Given the description of an element on the screen output the (x, y) to click on. 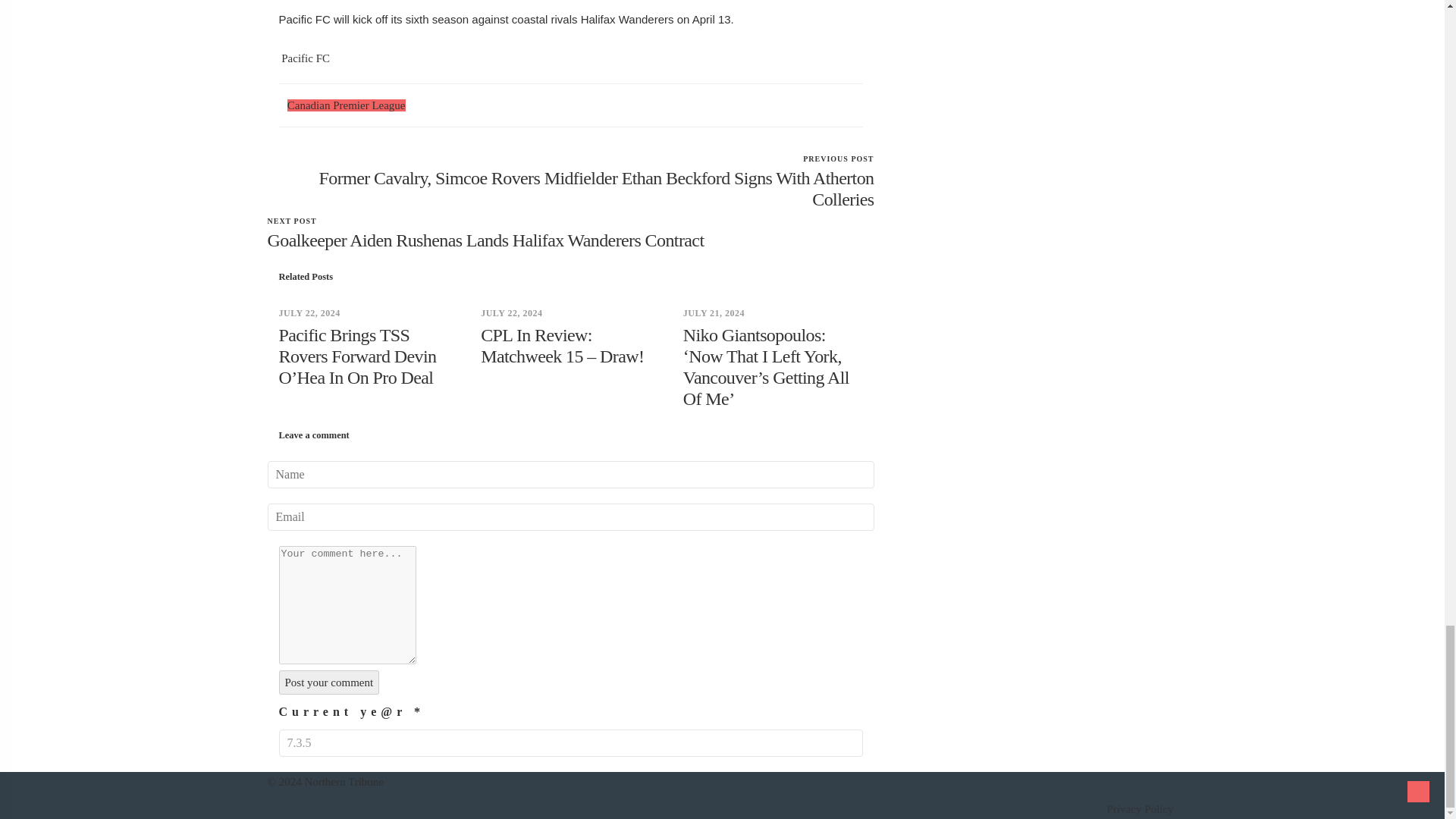
7.3.5 (571, 742)
Pacific FC (305, 58)
Canadian Premier League (346, 105)
